Given the description of an element on the screen output the (x, y) to click on. 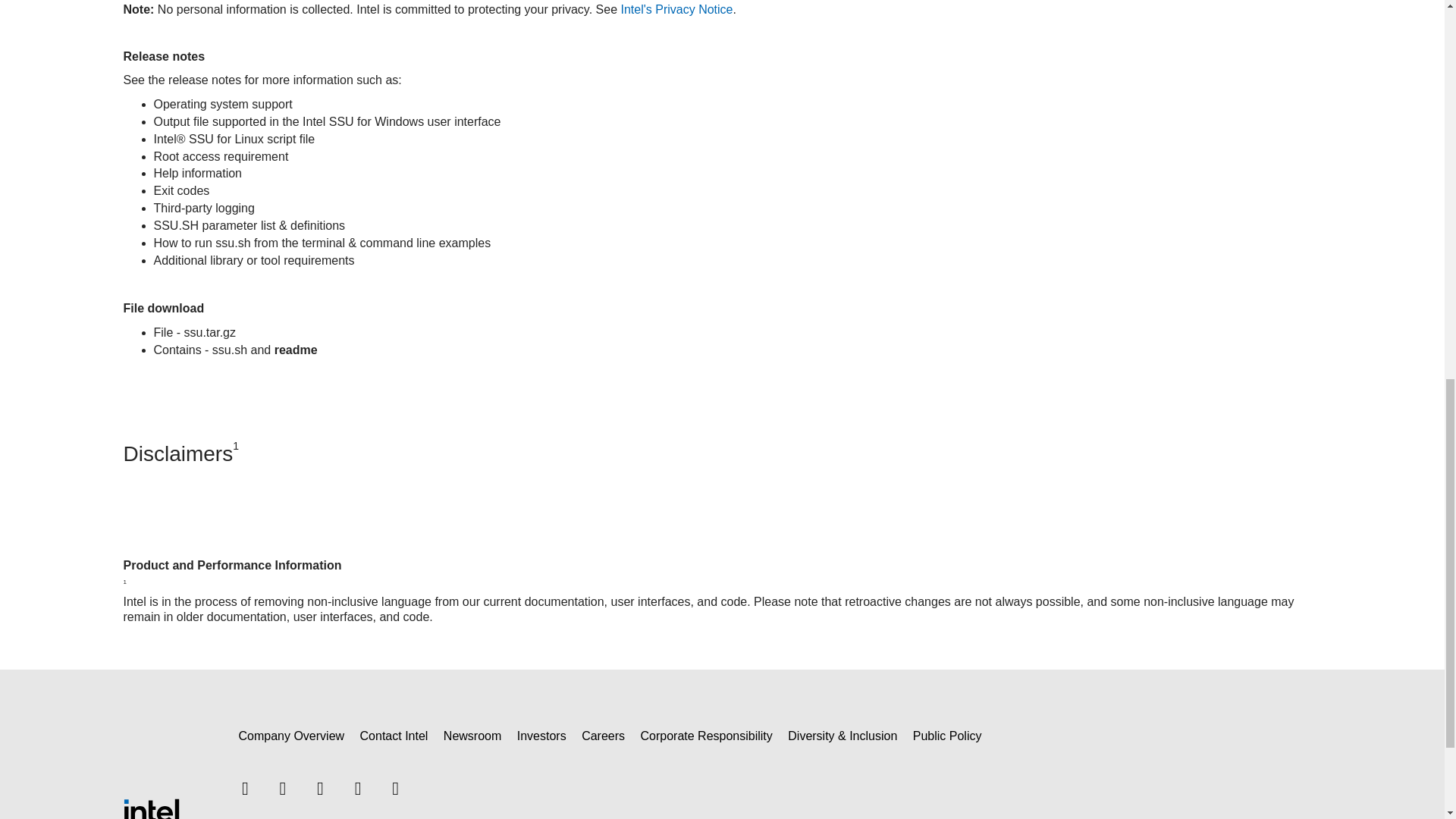
Intel Footer Logo (152, 809)
